Given the description of an element on the screen output the (x, y) to click on. 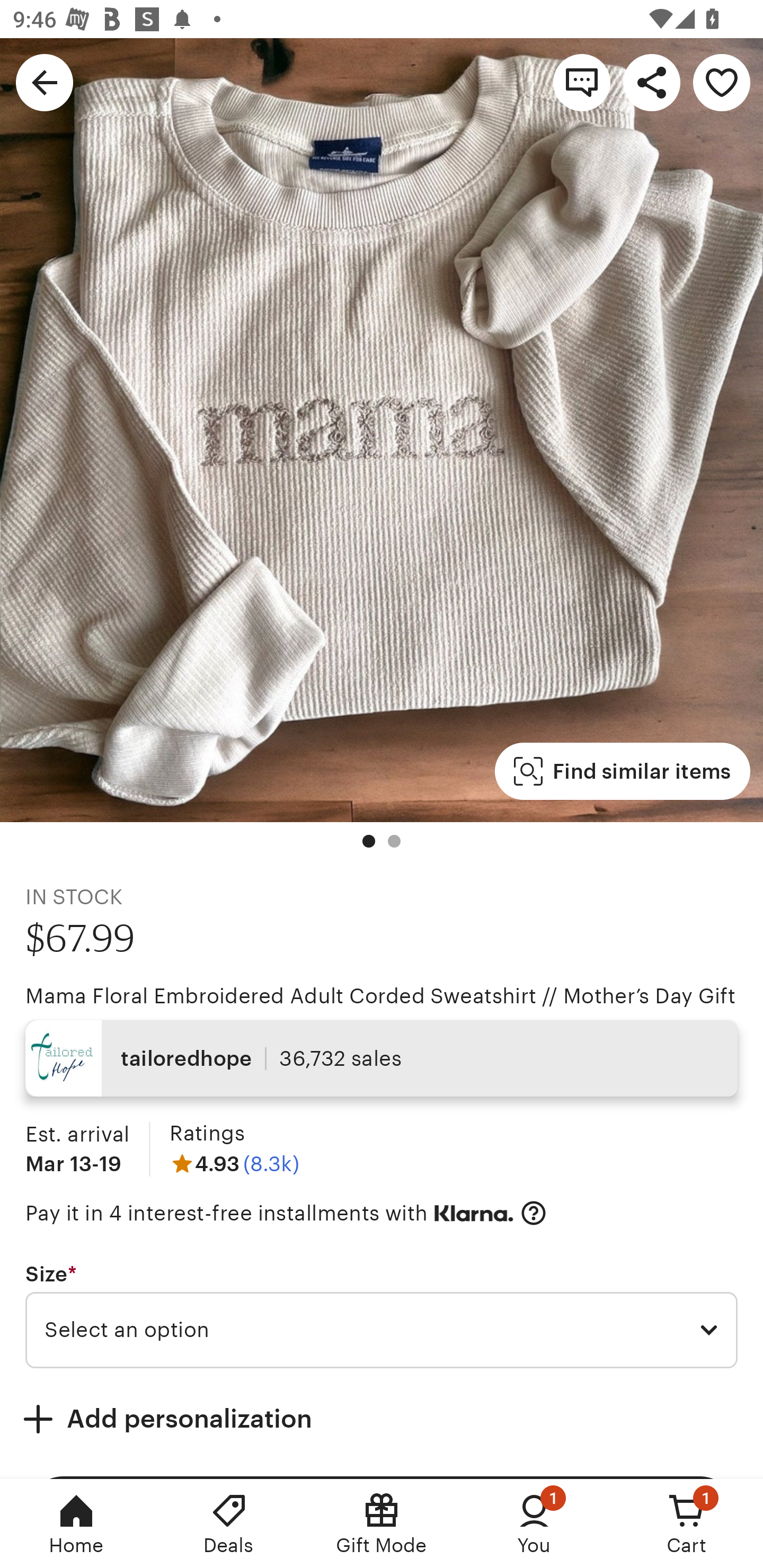
Navigate up (44, 81)
Contact shop (581, 81)
Share (651, 81)
Find similar items (622, 771)
tailoredhope 36,732 sales (381, 1058)
Ratings (206, 1133)
4.93 (8.3k) (234, 1163)
Size * Required Select an option (381, 1315)
Select an option (381, 1330)
Add personalization Add personalization Required (381, 1418)
Deals (228, 1523)
Gift Mode (381, 1523)
You, 1 new notification You (533, 1523)
Cart, 1 new notification Cart (686, 1523)
